Given the description of an element on the screen output the (x, y) to click on. 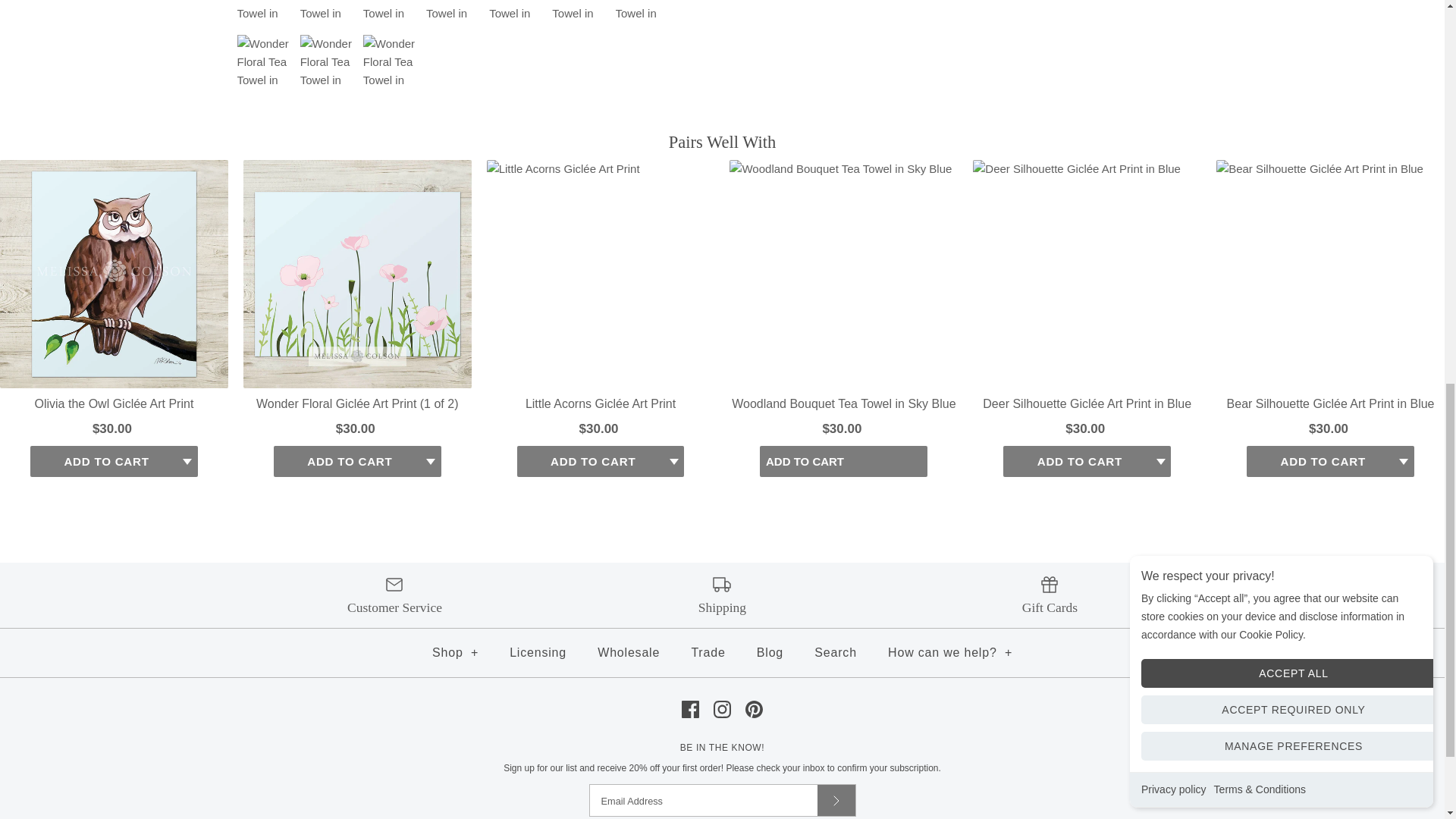
Pinterest (753, 709)
Wonder Floral Tea Towel in Sky Blue - Melissa Colson (390, 12)
Facebook (689, 709)
Wonder Floral Tea Towel in Sky Blue - Melissa Colson (453, 12)
Wonder Floral Tea Towel in Sky Blue - Melissa Colson (263, 62)
Wonder Floral Tea Towel in Sky Blue - Melissa Colson (579, 12)
Instagram (721, 709)
Wonder Floral Tea Towel in Sky Blue - Melissa Colson (643, 12)
Wonder Floral Tea Towel in Sky Blue - Melissa Colson (327, 12)
Wonder Floral Tea Towel in Sky Blue - Melissa Colson (390, 62)
